Given the description of an element on the screen output the (x, y) to click on. 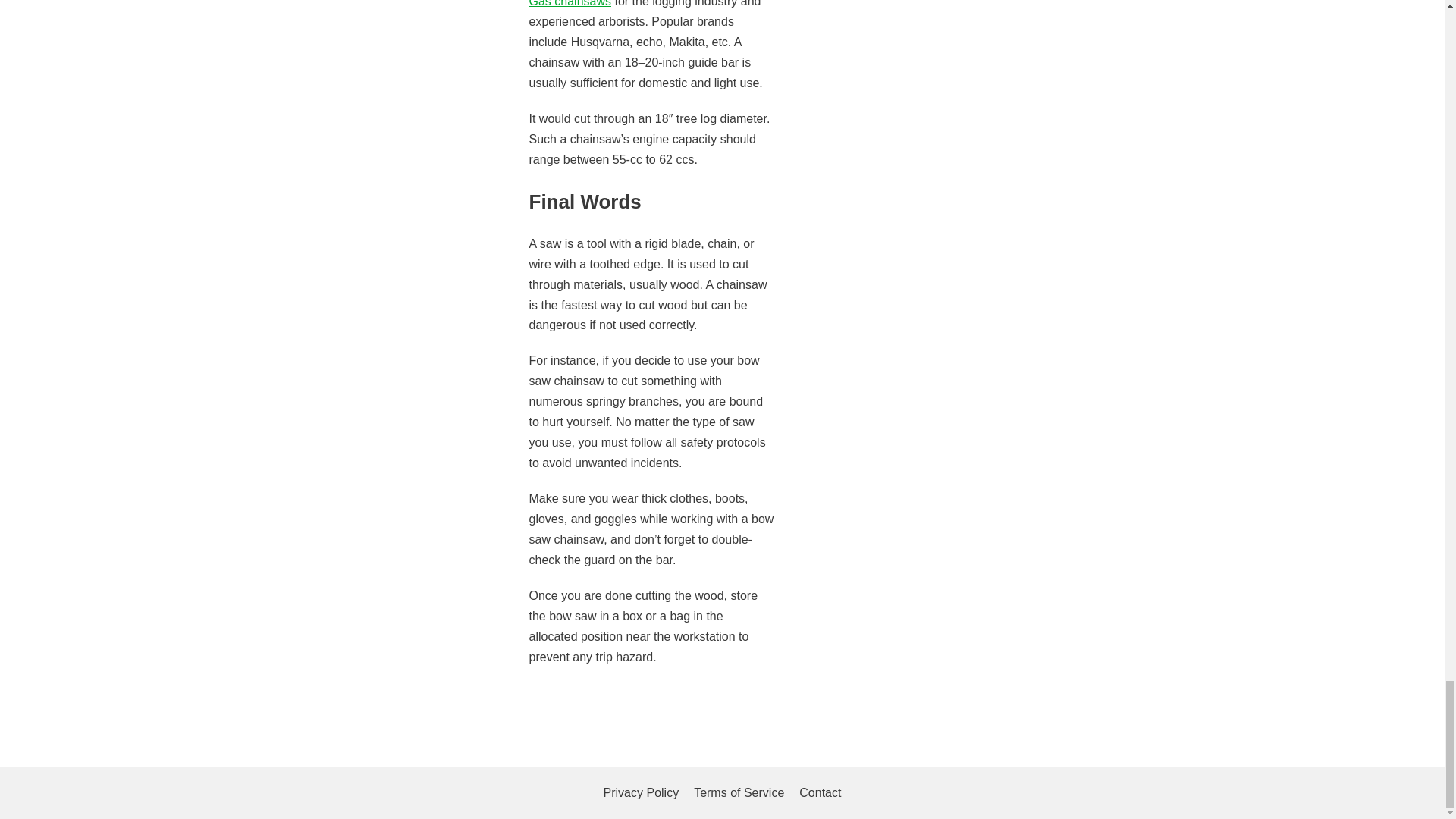
Privacy Policy (641, 792)
Gas chainsaws (570, 3)
Contact (820, 792)
Terms of Service (739, 792)
